Given the description of an element on the screen output the (x, y) to click on. 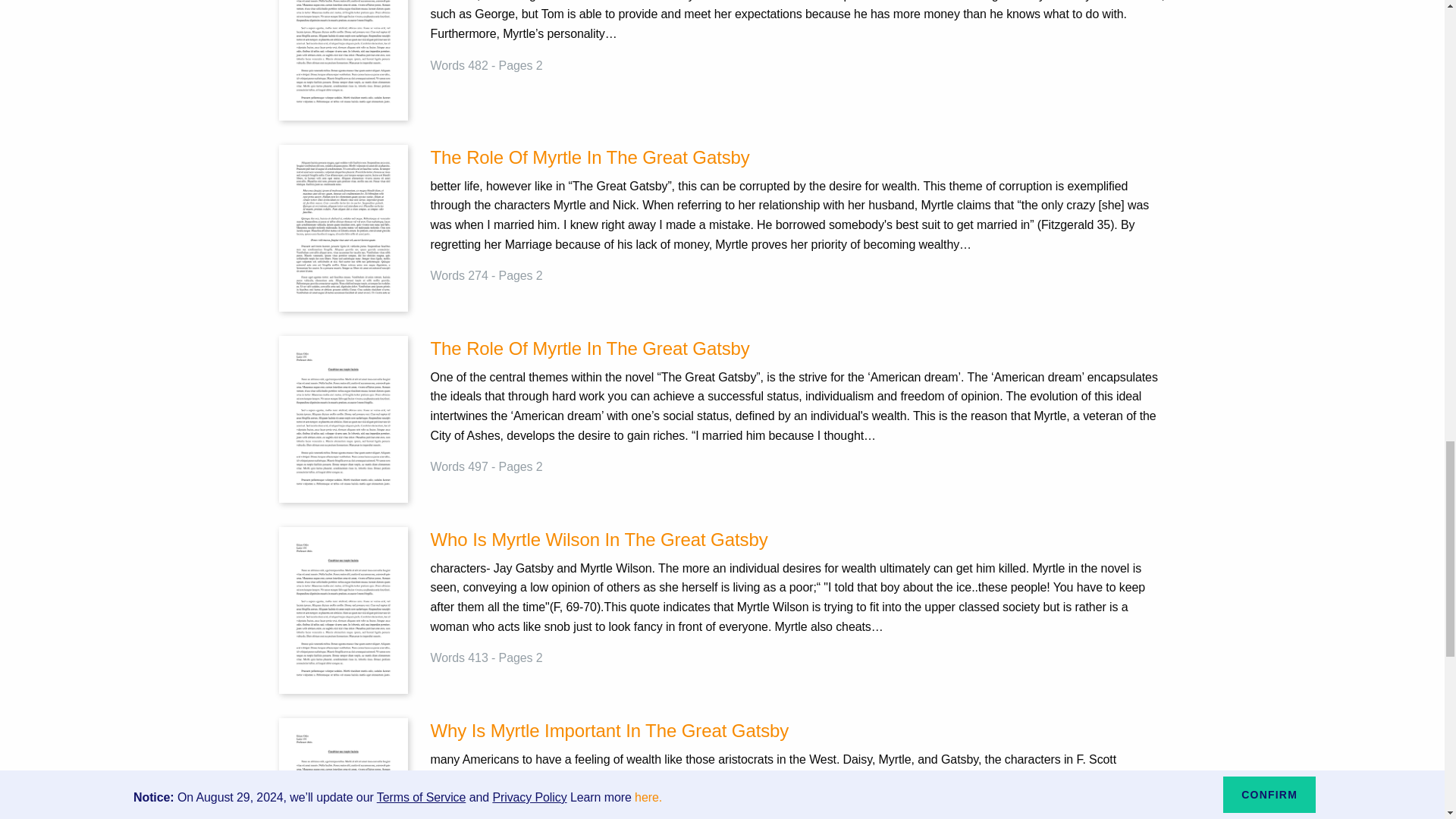
The Role Of Myrtle In The Great Gatsby (798, 348)
Myrtle In The Great Gatsby (343, 36)
Why Is Myrtle Important In The Great Gatsby (343, 800)
Who Is Myrtle Wilson In The Great Gatsby (798, 539)
Why Is Myrtle Important In The Great Gatsby (798, 730)
Who Is Myrtle Wilson In The Great Gatsby (343, 609)
The Role Of Myrtle In The Great Gatsby (343, 418)
The Role Of Myrtle In The Great Gatsby (798, 157)
The Role Of Myrtle In The Great Gatsby (798, 348)
The Role Of Myrtle In The Great Gatsby (343, 227)
